Given the description of an element on the screen output the (x, y) to click on. 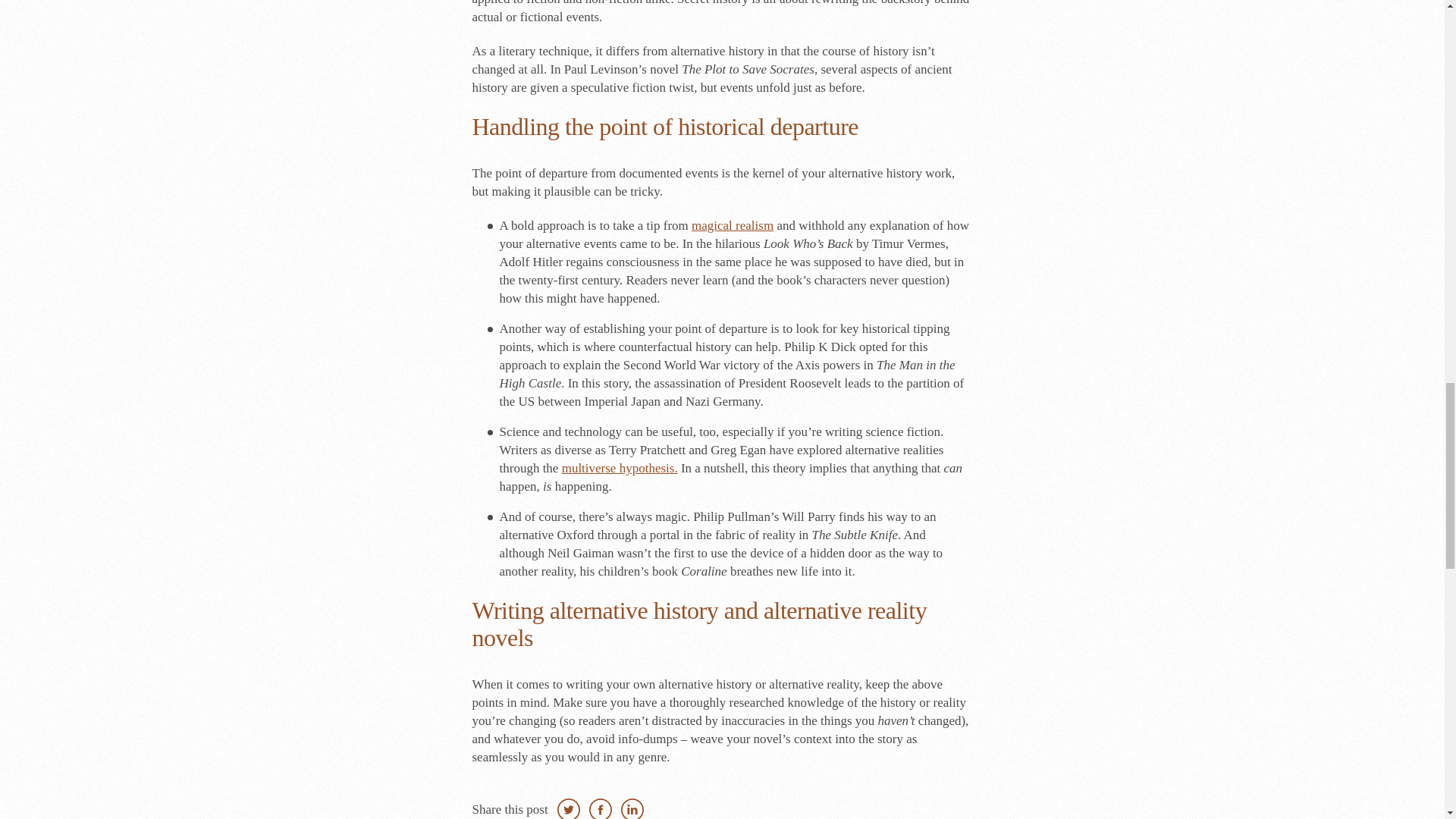
magical realism (732, 225)
multiverse hypothesis. (620, 468)
LinkedIn (632, 808)
Facebook (600, 808)
Twitter (568, 808)
